Given the description of an element on the screen output the (x, y) to click on. 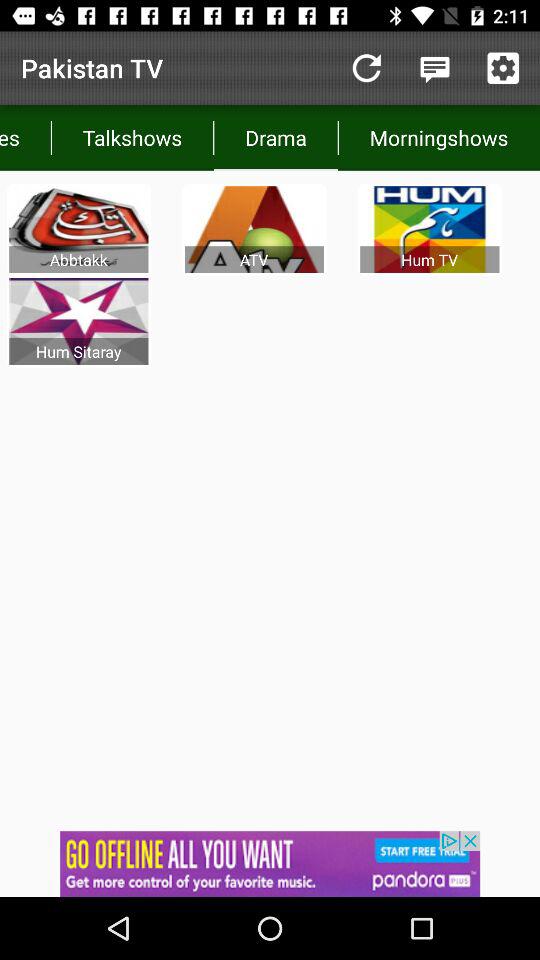
go to back (366, 67)
